Given the description of an element on the screen output the (x, y) to click on. 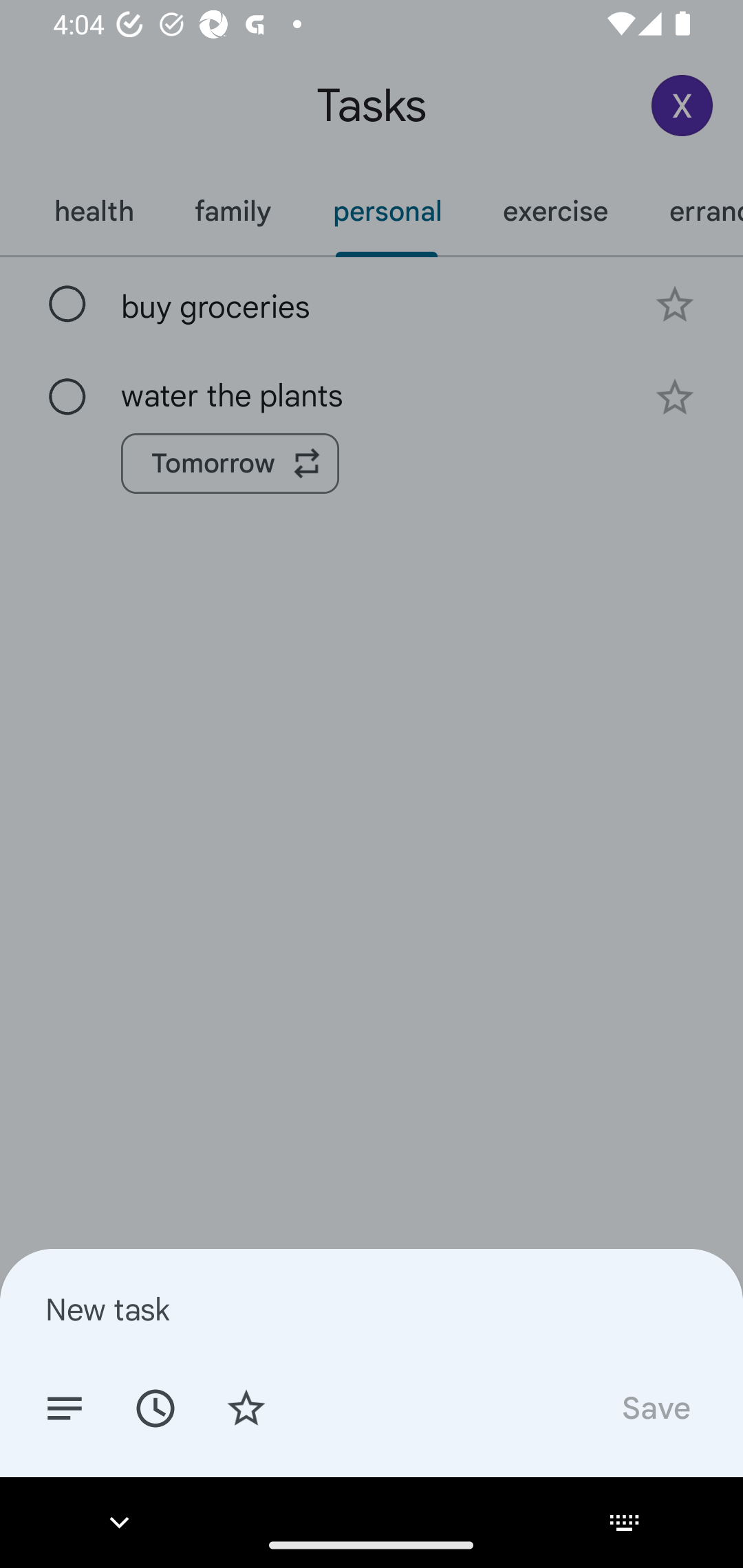
New task (371, 1308)
Save (655, 1407)
Add details (64, 1407)
Set date/time (154, 1407)
Add star (245, 1407)
